Given the description of an element on the screen output the (x, y) to click on. 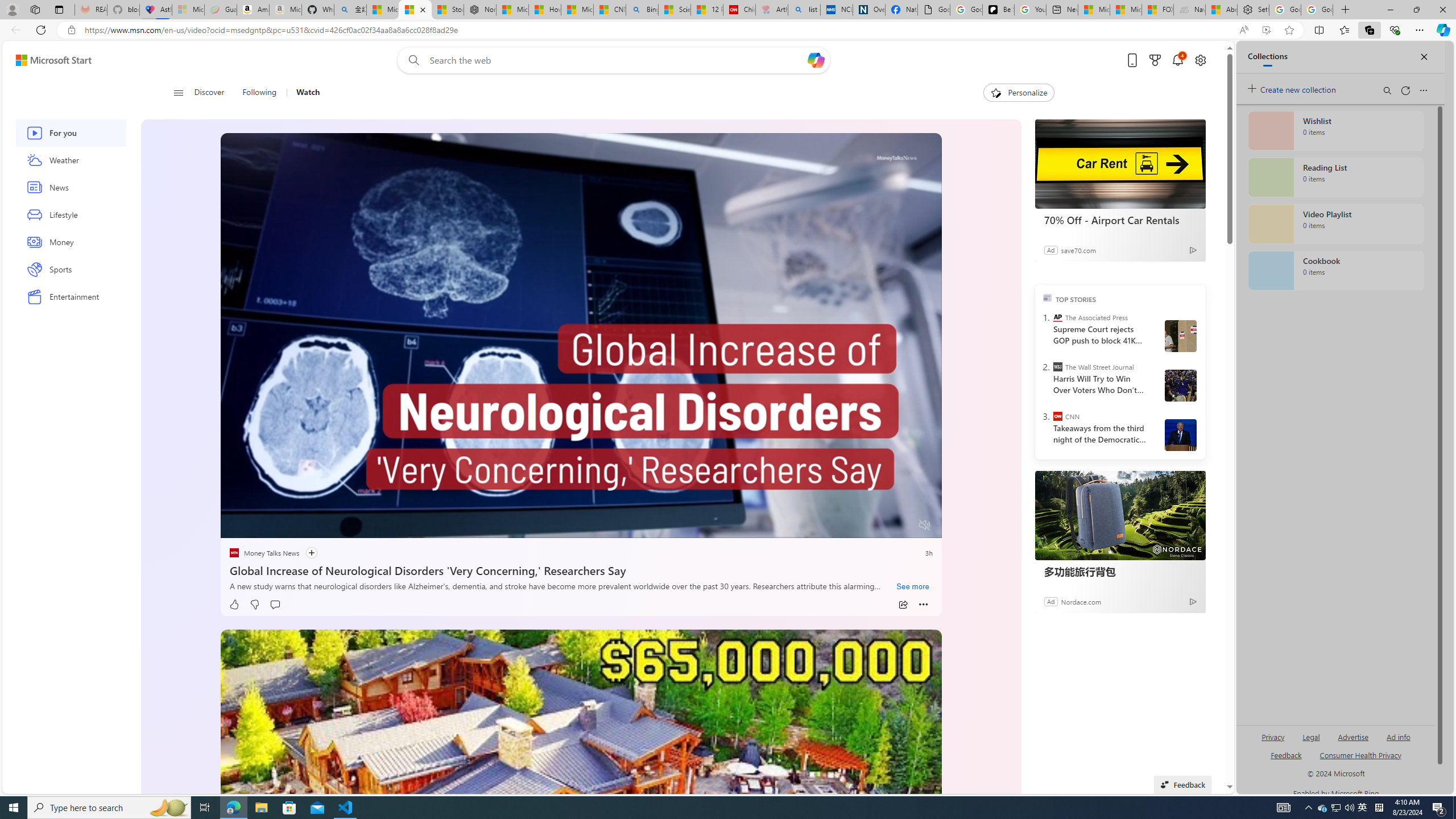
The Wall Street Journal (1057, 366)
CNN - MSN (609, 9)
Like (234, 604)
